Given the description of an element on the screen output the (x, y) to click on. 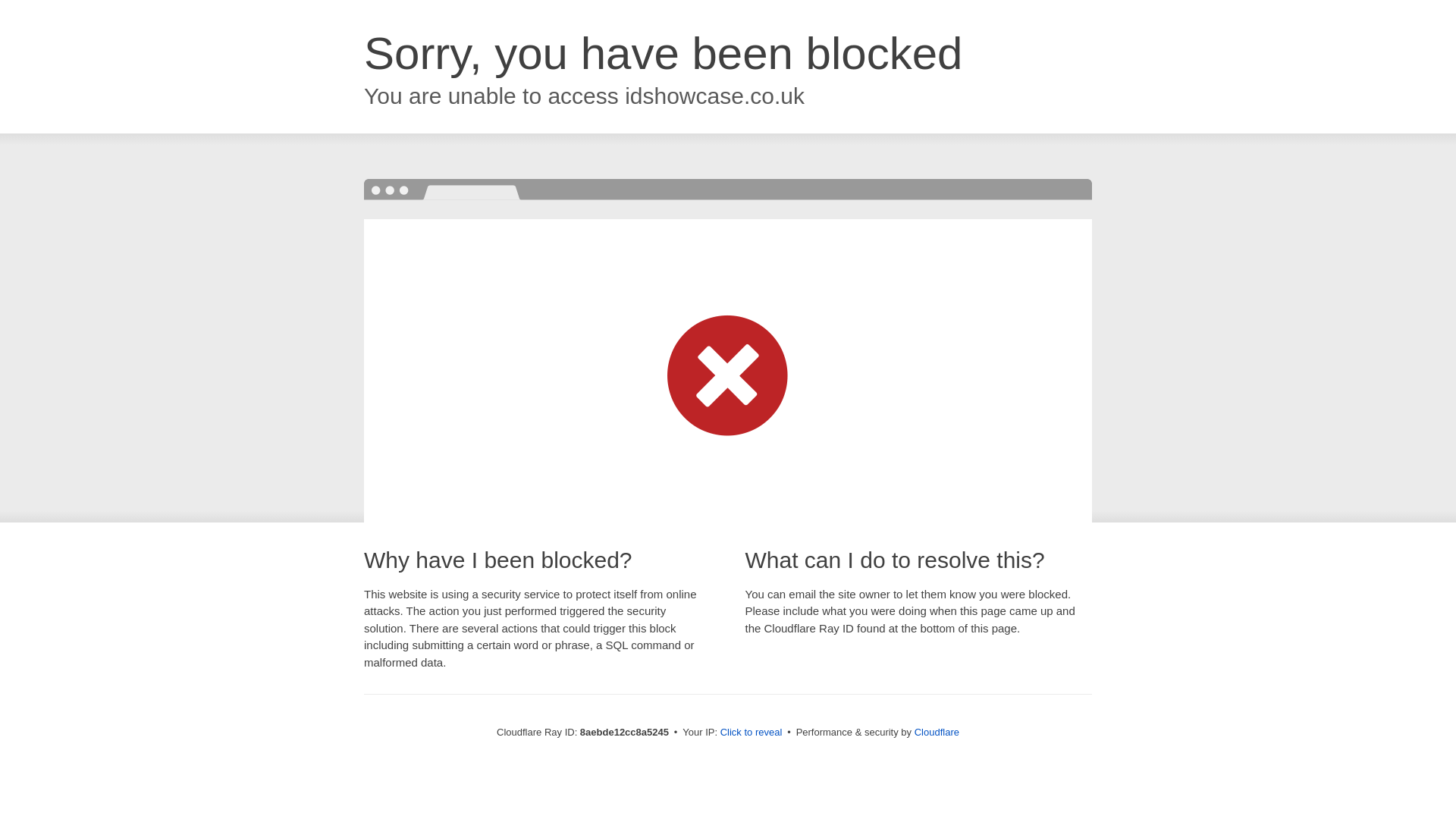
Cloudflare (936, 731)
Click to reveal (751, 732)
